Given the description of an element on the screen output the (x, y) to click on. 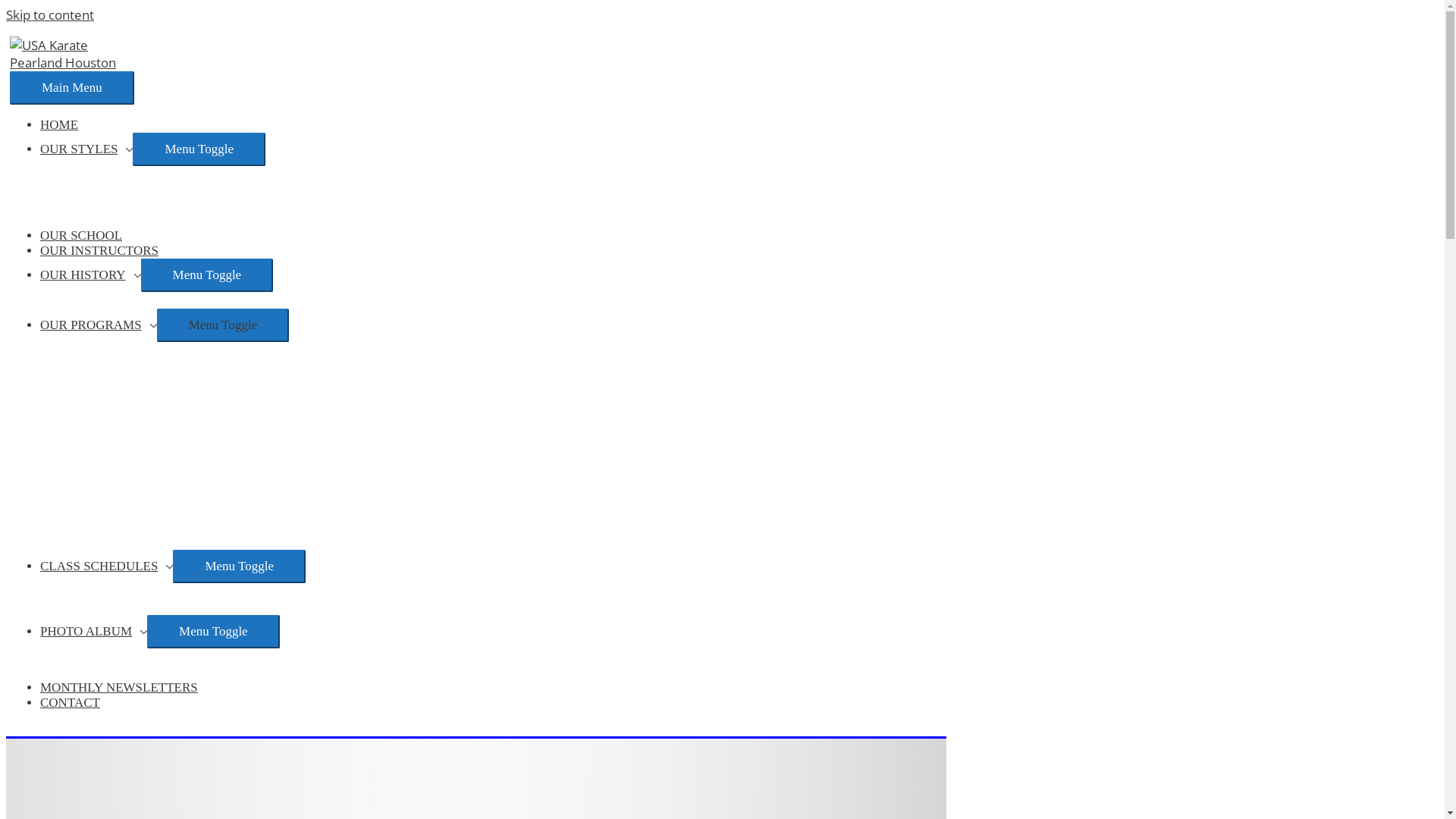
OUR HISTORY Element type: text (90, 274)
Menu Toggle Element type: text (198, 149)
OUR SCHOOL Element type: text (81, 235)
HOME Element type: text (59, 124)
Menu Toggle Element type: text (213, 631)
CONTACT Element type: text (70, 702)
Menu Toggle Element type: text (238, 566)
PHOTO ALBUM Element type: text (93, 631)
Skip to content Element type: text (50, 14)
Menu Toggle Element type: text (222, 325)
MONTHLY NEWSLETTERS Element type: text (118, 687)
Main Menu Element type: text (71, 87)
OUR PROGRAMS Element type: text (98, 324)
Menu Toggle Element type: text (207, 274)
CLASS SCHEDULES Element type: text (106, 565)
OUR STYLES Element type: text (86, 148)
OUR INSTRUCTORS Element type: text (99, 250)
